Given the description of an element on the screen output the (x, y) to click on. 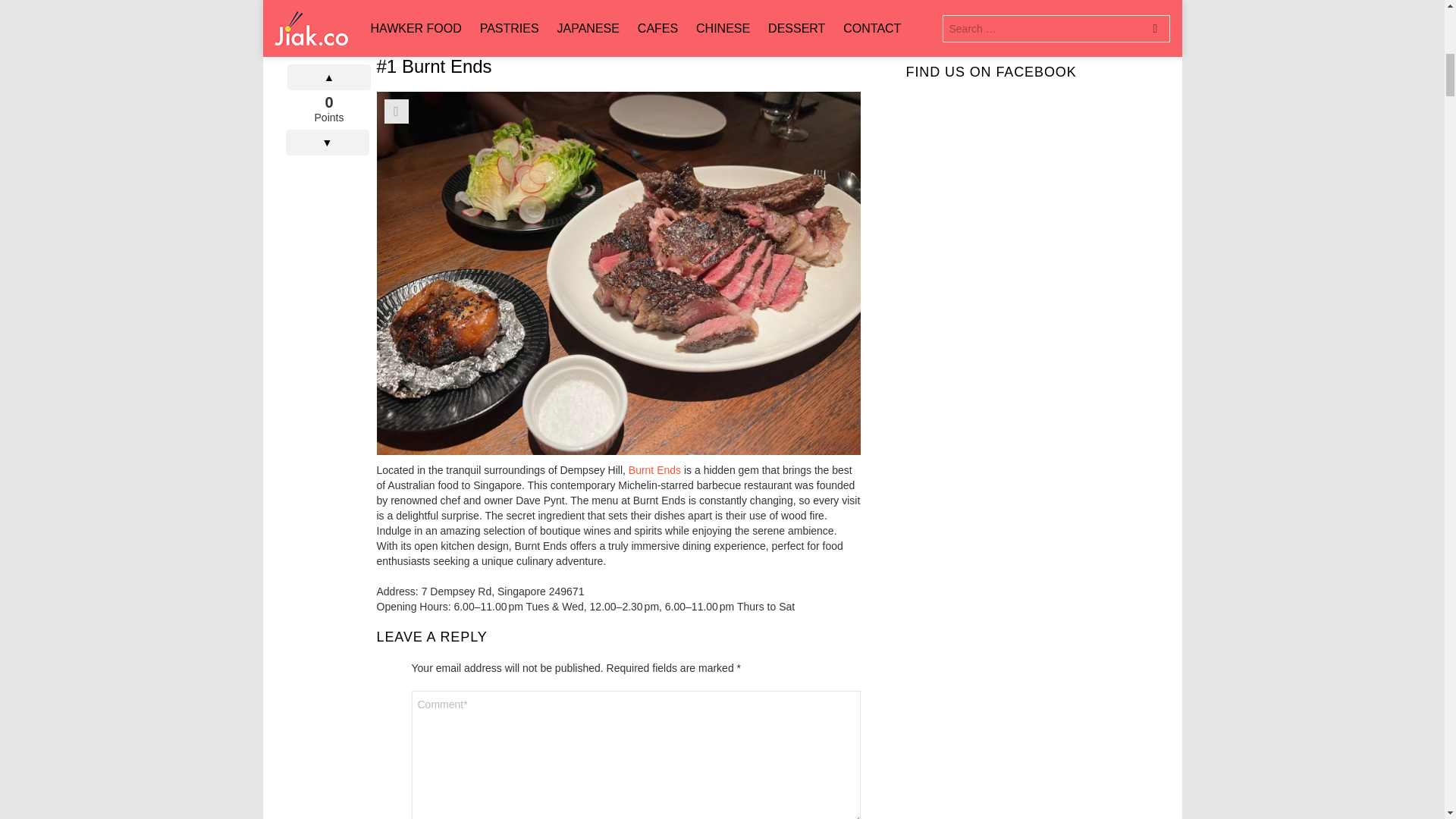
Upvote (328, 68)
Share (395, 111)
Upvote (328, 68)
Downvote (326, 134)
Downvote (326, 134)
Burnt Ends (654, 469)
